Given the description of an element on the screen output the (x, y) to click on. 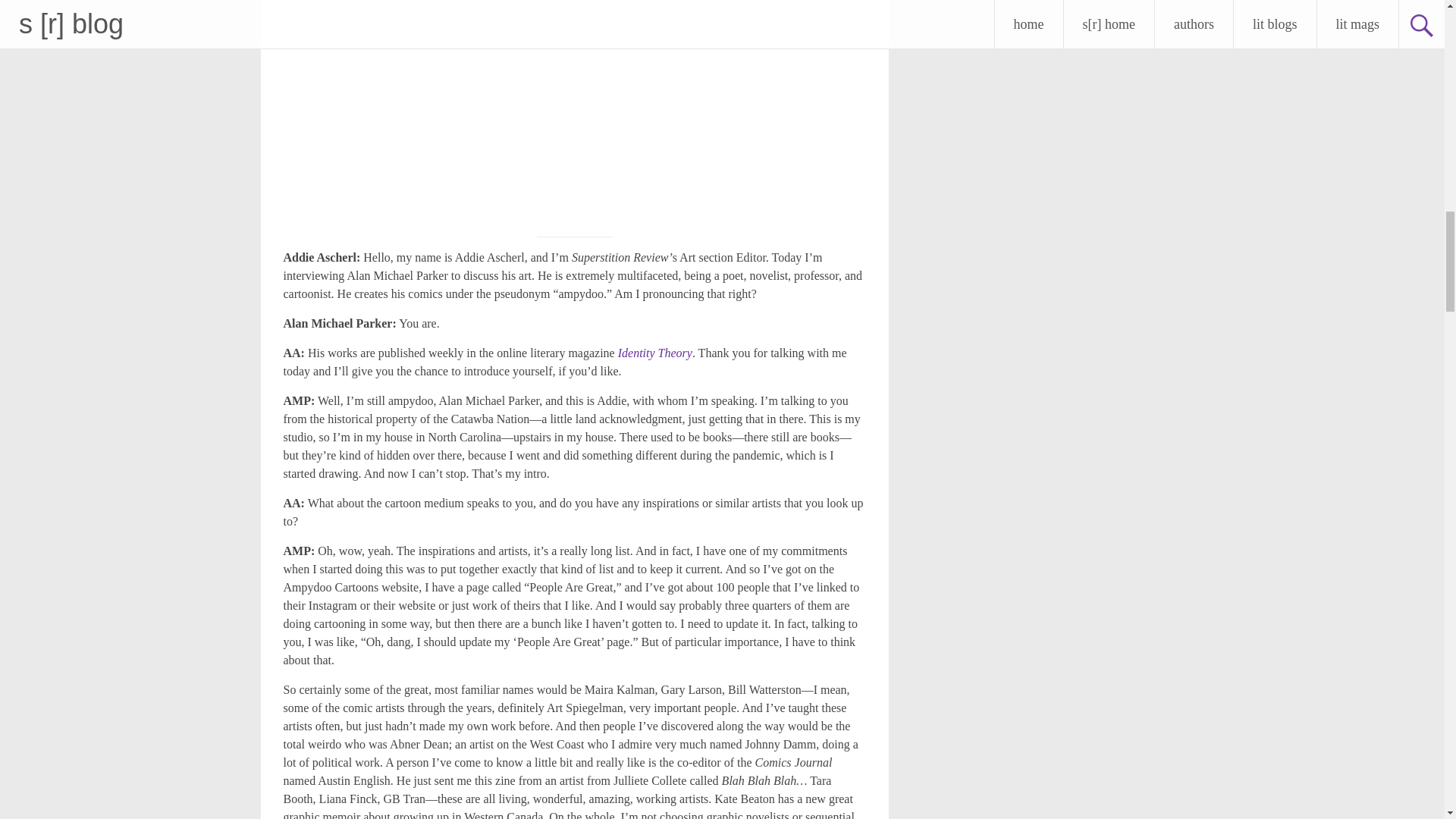
Identity Theory (655, 352)
